Given the description of an element on the screen output the (x, y) to click on. 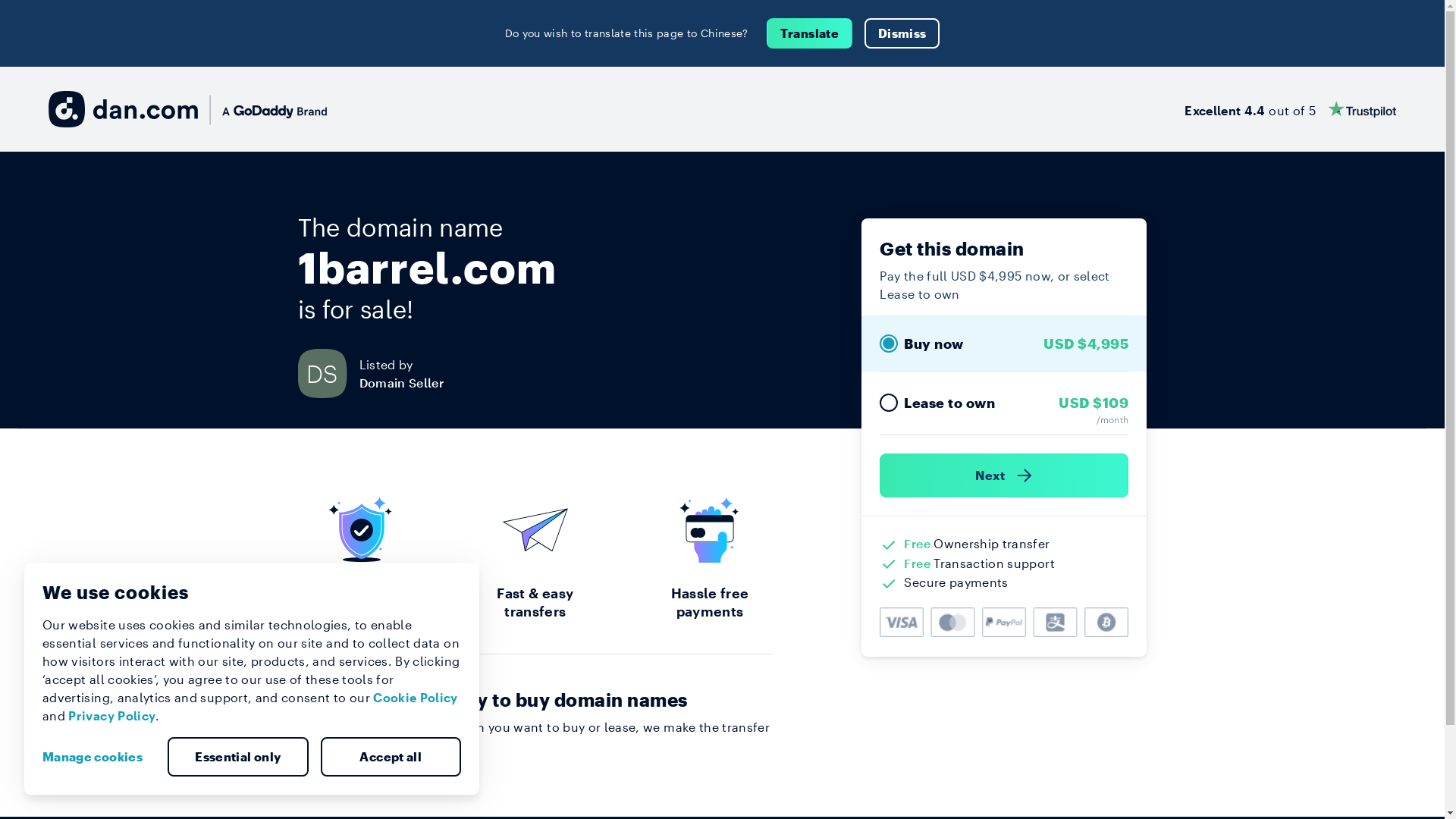
Accept all Element type: text (390, 756)
Privacy Policy Element type: text (111, 715)
Translate Element type: text (809, 33)
Excellent 4.4 out of 5 Element type: text (1290, 109)
Cookie Policy Element type: text (415, 697)
Next
) Element type: text (1003, 475)
Essential only Element type: text (237, 756)
Dismiss Element type: text (901, 33)
Manage cookies Element type: text (98, 756)
